Given the description of an element on the screen output the (x, y) to click on. 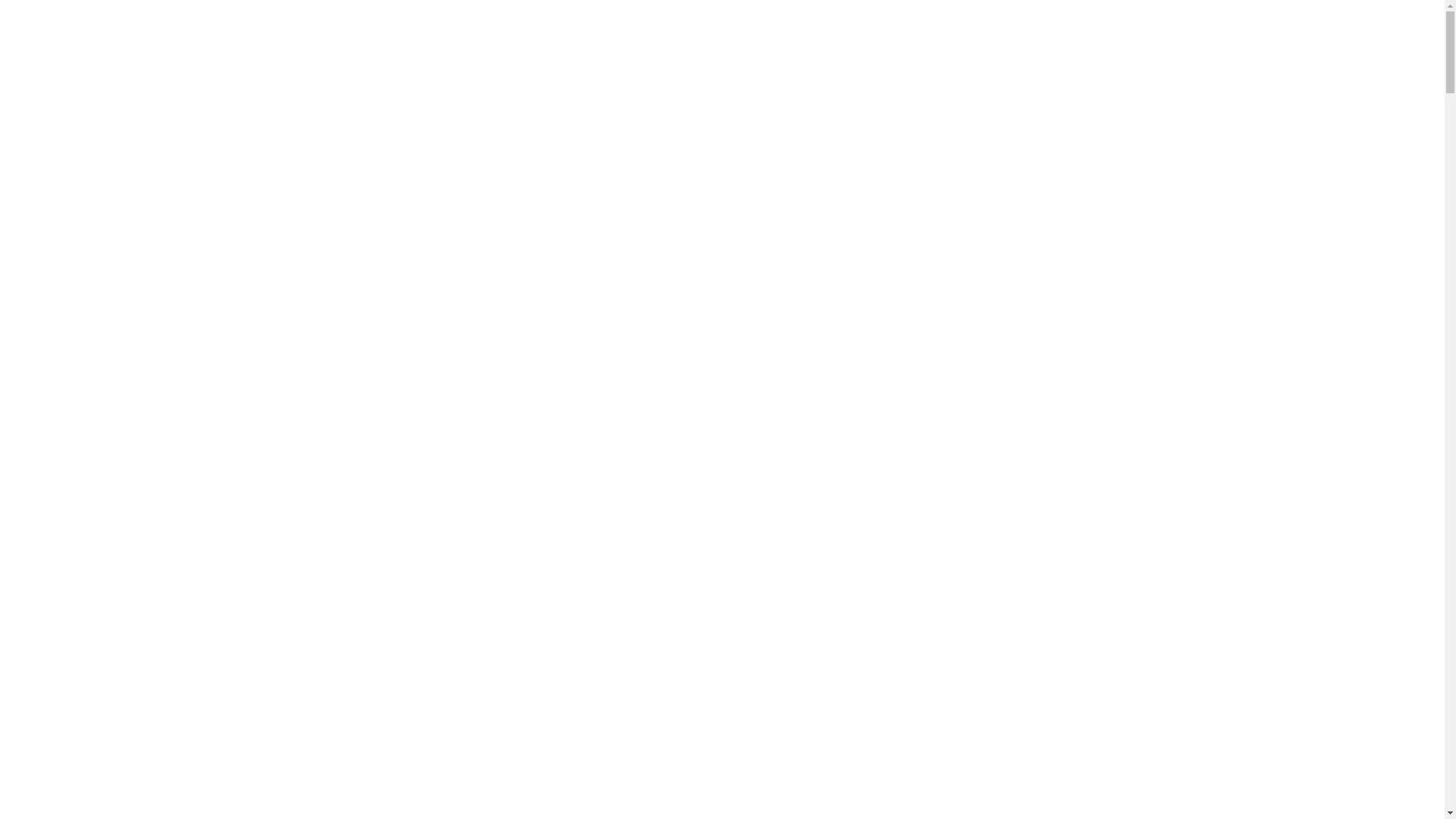
Portfolio Element type: text (81, 29)
Studio Element type: text (140, 29)
Thoughts Element type: text (1296, 29)
Contact Element type: text (1364, 29)
